Given the description of an element on the screen output the (x, y) to click on. 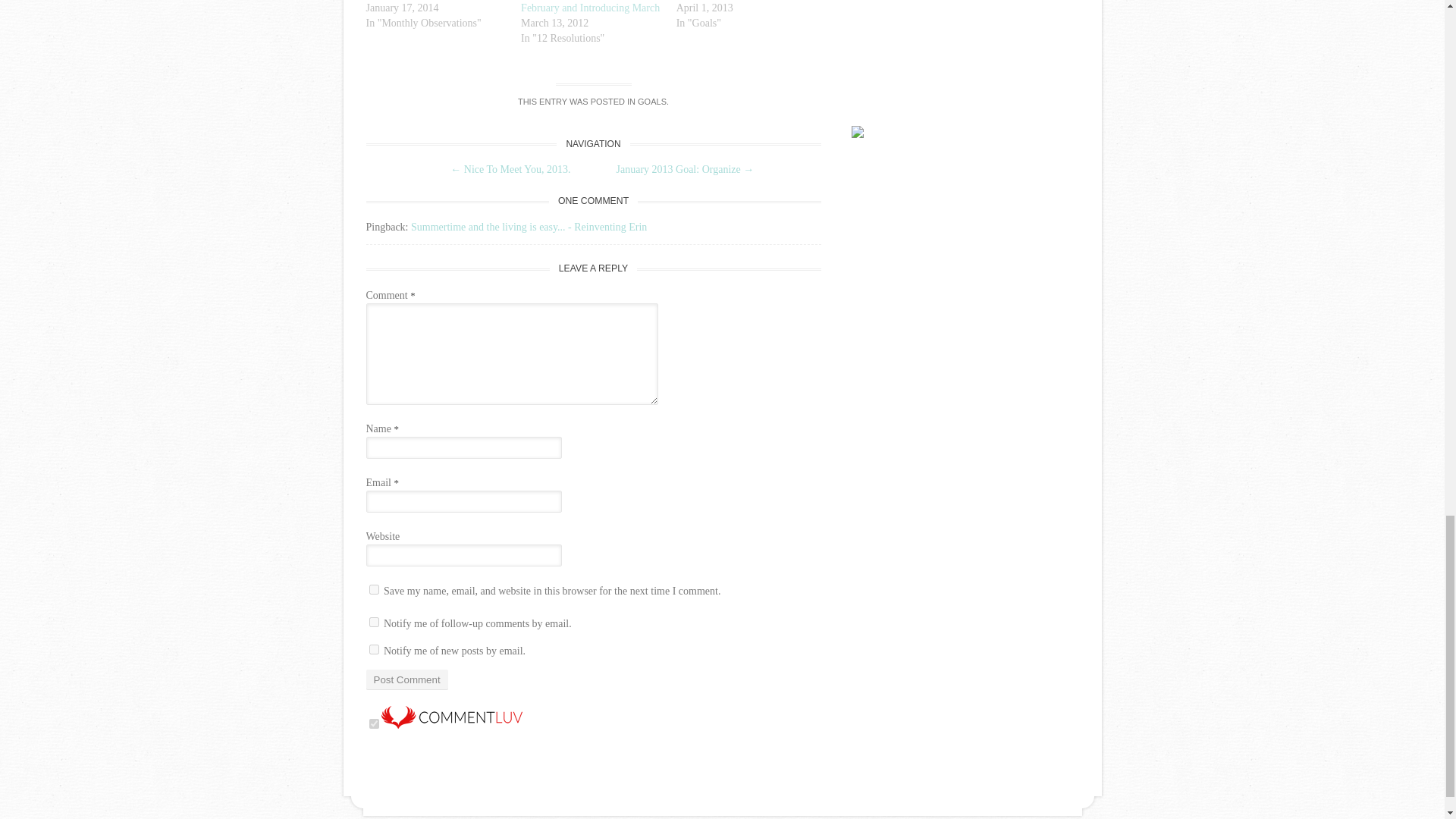
yes (373, 589)
GOALS (651, 101)
subscribe (373, 649)
12 Resolutions: Reviewing February and Introducing March (590, 6)
subscribe (373, 622)
Post Comment (405, 679)
Summertime and the living is easy... - Reinventing Erin (528, 226)
Post Comment (405, 679)
12 Resolutions: Reviewing February and Introducing March (590, 6)
on (373, 723)
